Given the description of an element on the screen output the (x, y) to click on. 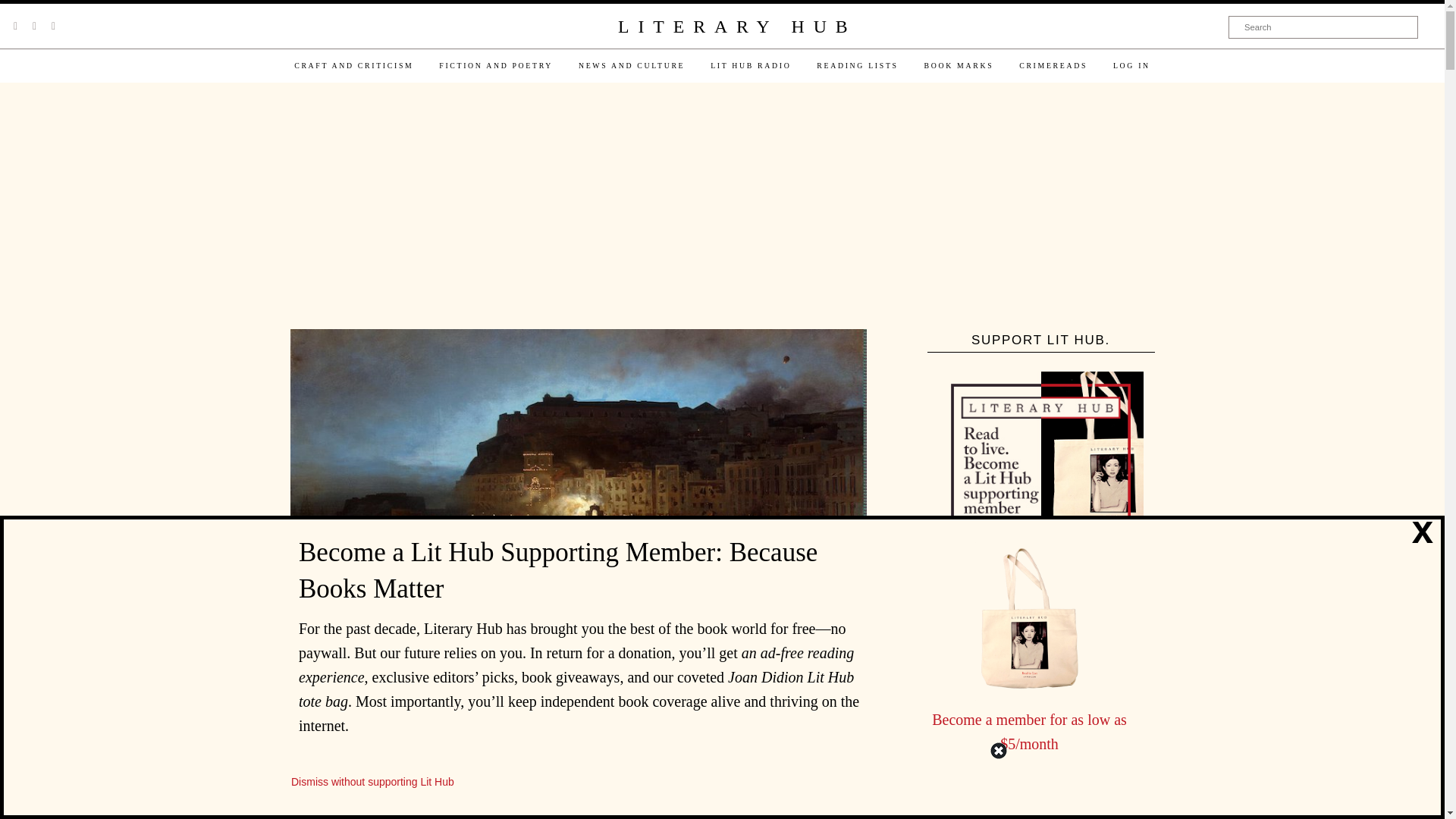
CRAFT AND CRITICISM (353, 65)
Search (1323, 26)
FICTION AND POETRY (496, 65)
LITERARY HUB (736, 26)
NEWS AND CULTURE (631, 65)
Support Lit Hub. (1040, 473)
